Given the description of an element on the screen output the (x, y) to click on. 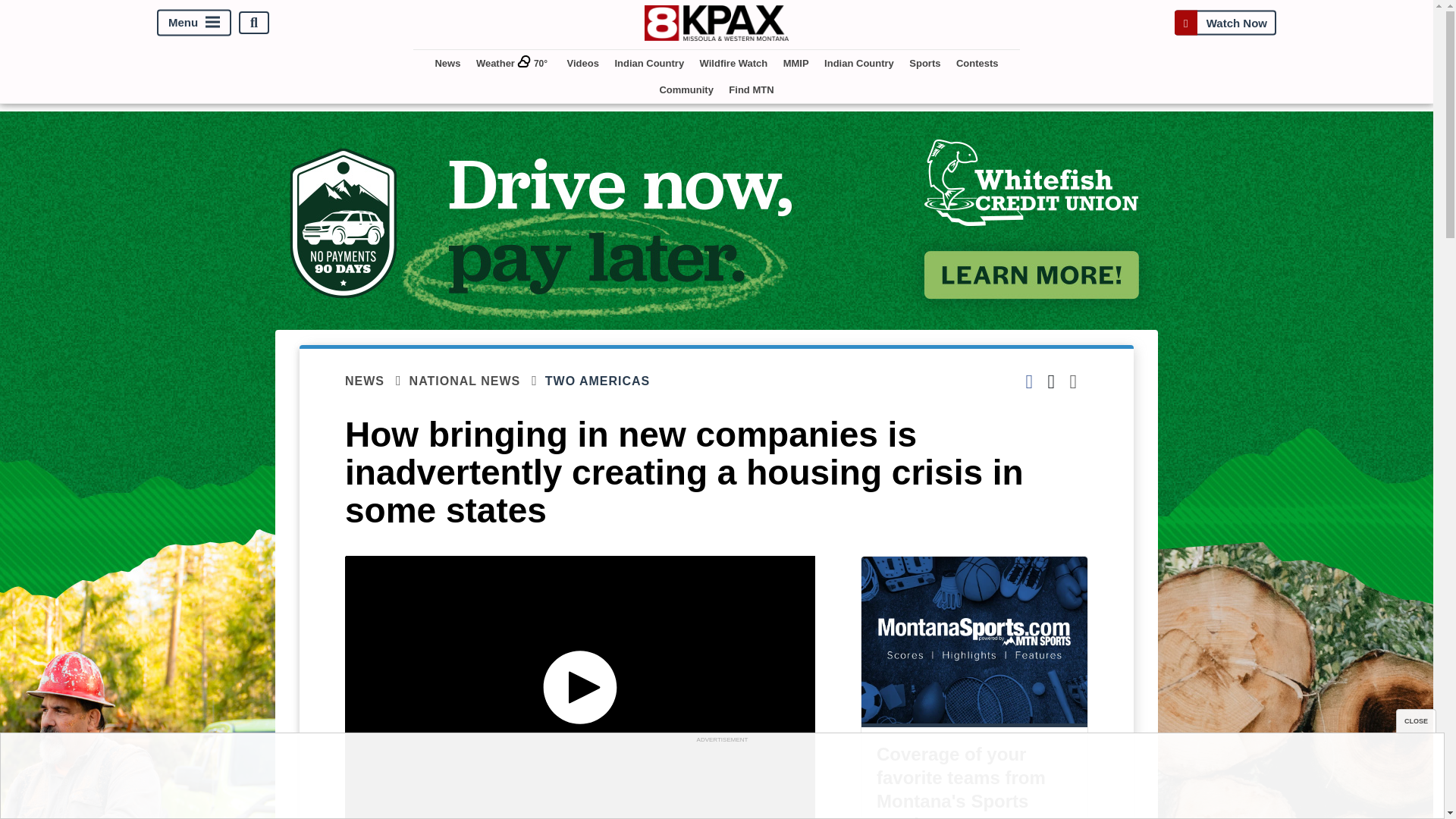
Watch Now (1224, 22)
3rd party ad content (721, 780)
Menu (194, 22)
